Given the description of an element on the screen output the (x, y) to click on. 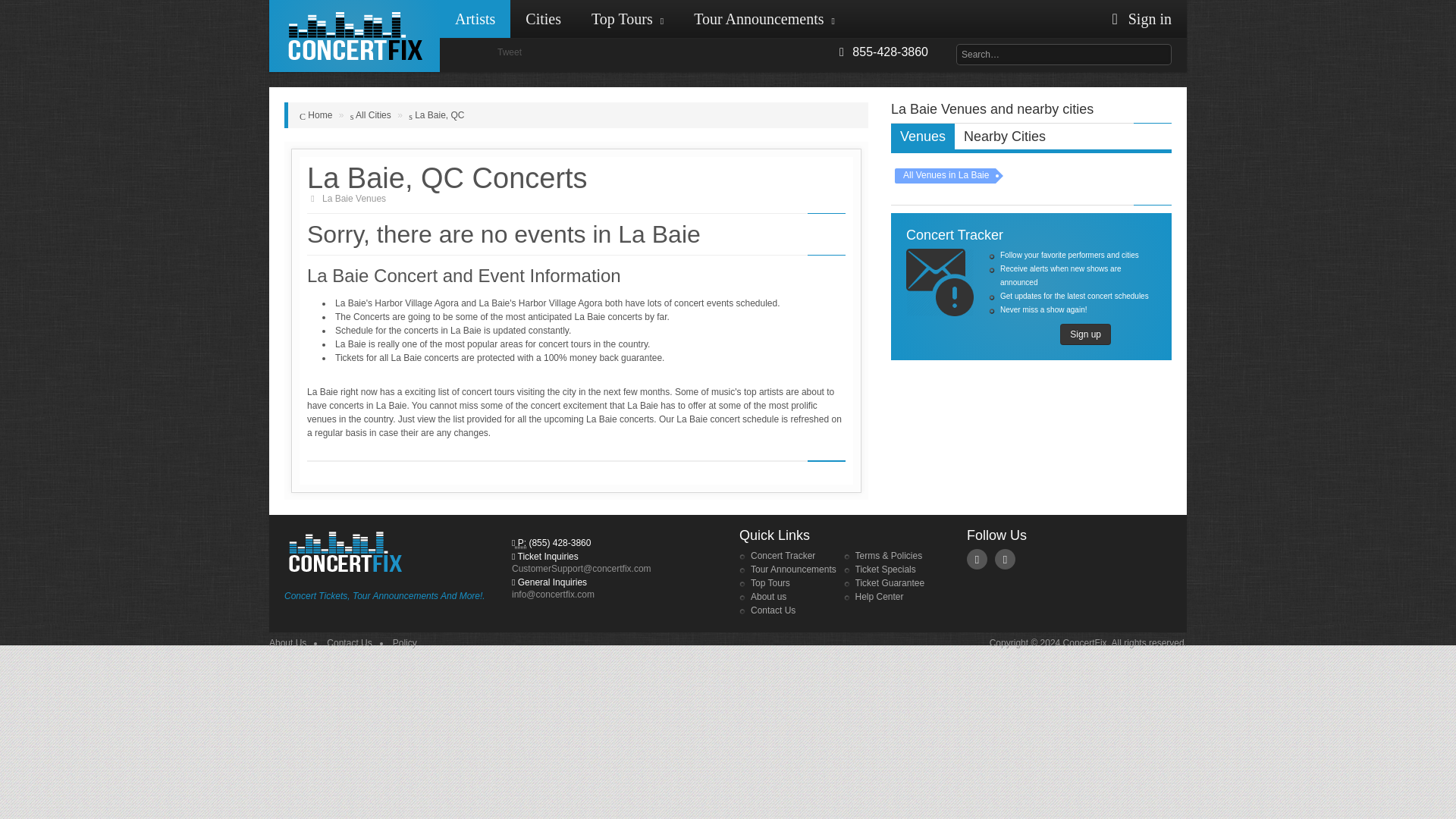
All Venues in La Baie (945, 175)
ConcertFix (354, 36)
Contact ConcertFix (348, 643)
My Account (1138, 18)
Phone (520, 542)
About ConcertFix (287, 643)
